Given the description of an element on the screen output the (x, y) to click on. 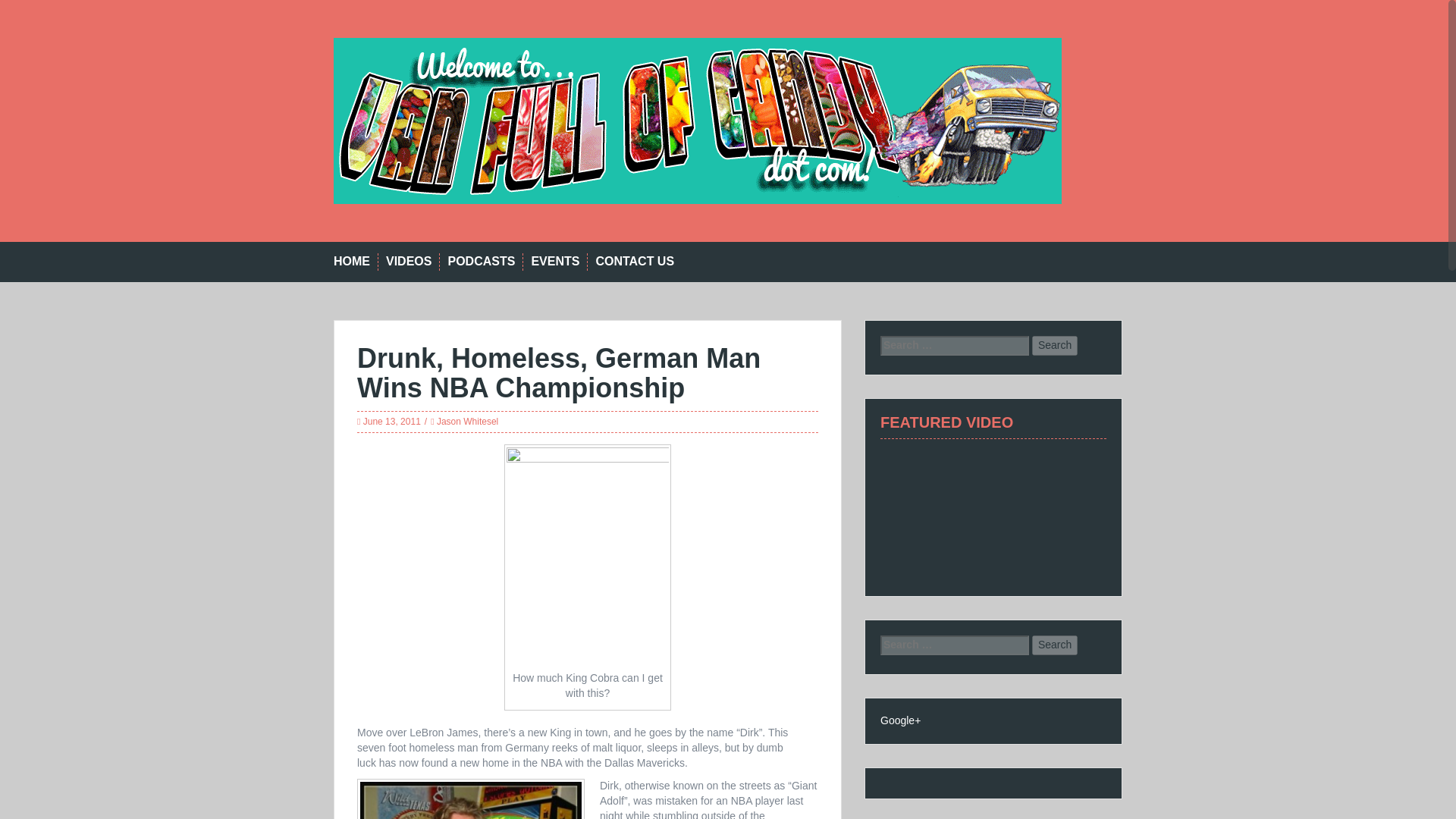
Search (1054, 645)
HOME (351, 262)
Van Full of Candy (697, 119)
Drunk Dirk (469, 800)
EVENTS (555, 262)
VIDEOS (407, 262)
Conversation Starter (993, 517)
Search (1054, 345)
Jason Whitesel (466, 421)
CONTACT US (634, 262)
June 13, 2011 (391, 421)
Search (1054, 645)
Search (1054, 345)
PODCASTS (480, 262)
